Given the description of an element on the screen output the (x, y) to click on. 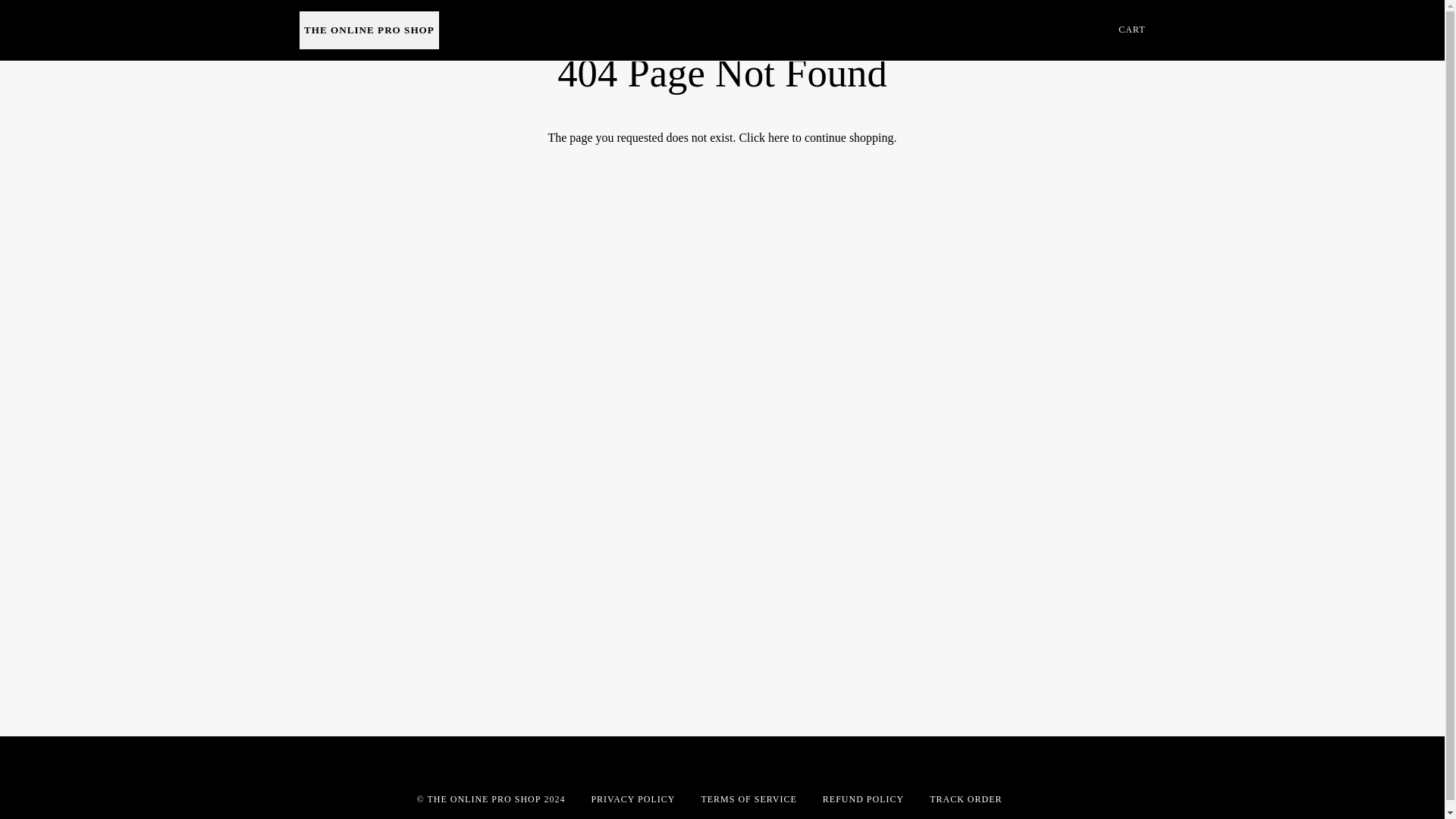
PRIVACY POLICY (633, 798)
TRACK ORDER (965, 798)
here (778, 137)
THE ONLINE PRO SHOP (483, 798)
THE ONLINE PRO SHOP (368, 30)
TERMS OF SERVICE (748, 798)
REFUND POLICY (863, 798)
